Given the description of an element on the screen output the (x, y) to click on. 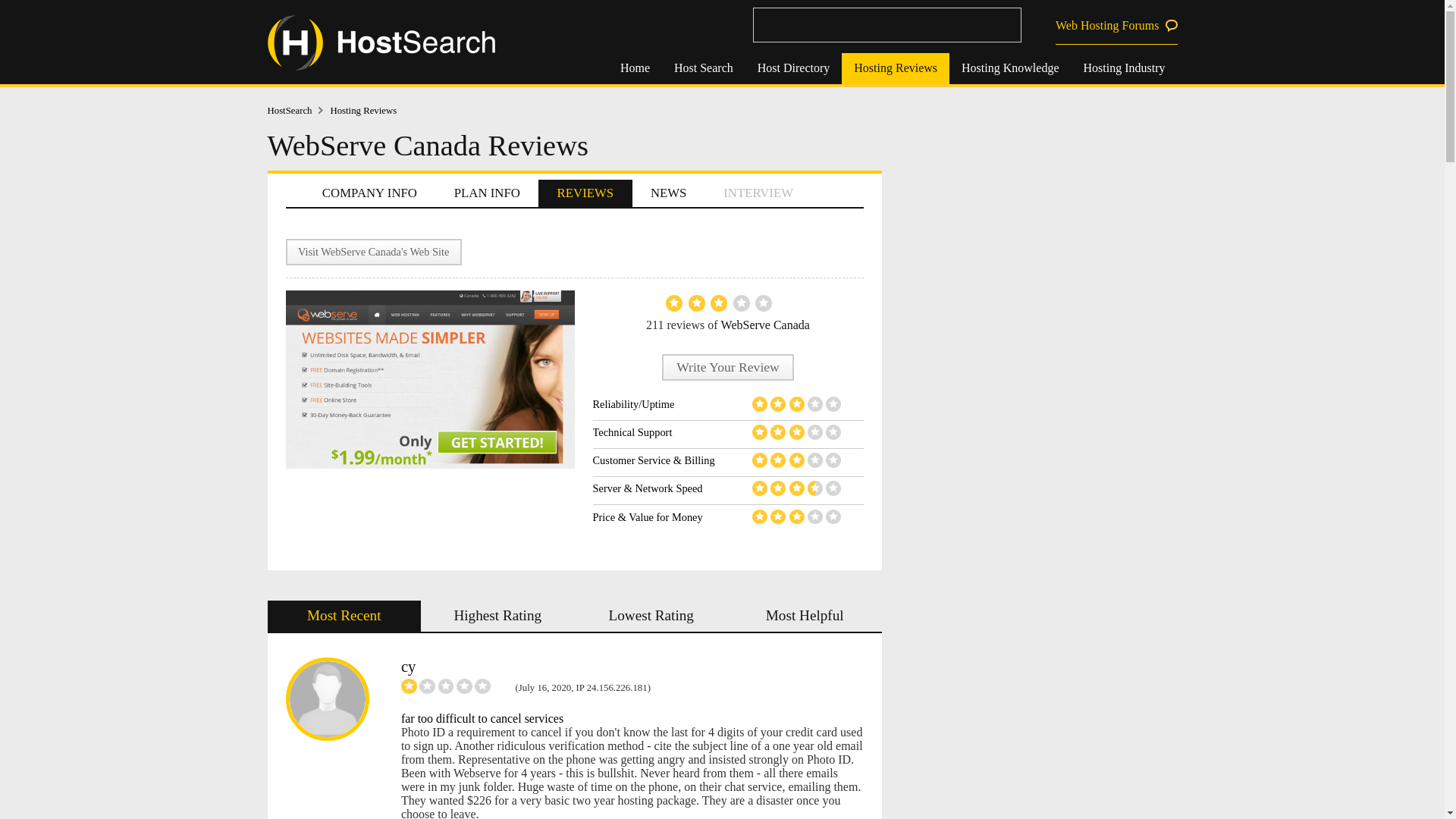
Sort by Highest Rating (497, 615)
REVIEWS (584, 193)
Search for hosting providers and more... (886, 24)
Hosting Reviews (895, 68)
Hosting Knowledge (1009, 68)
COMPANY INFO (368, 193)
NEWS (667, 193)
Sort by Lowest Rating (652, 615)
Host Directory (794, 68)
Hosting Industry (1123, 68)
